Given the description of an element on the screen output the (x, y) to click on. 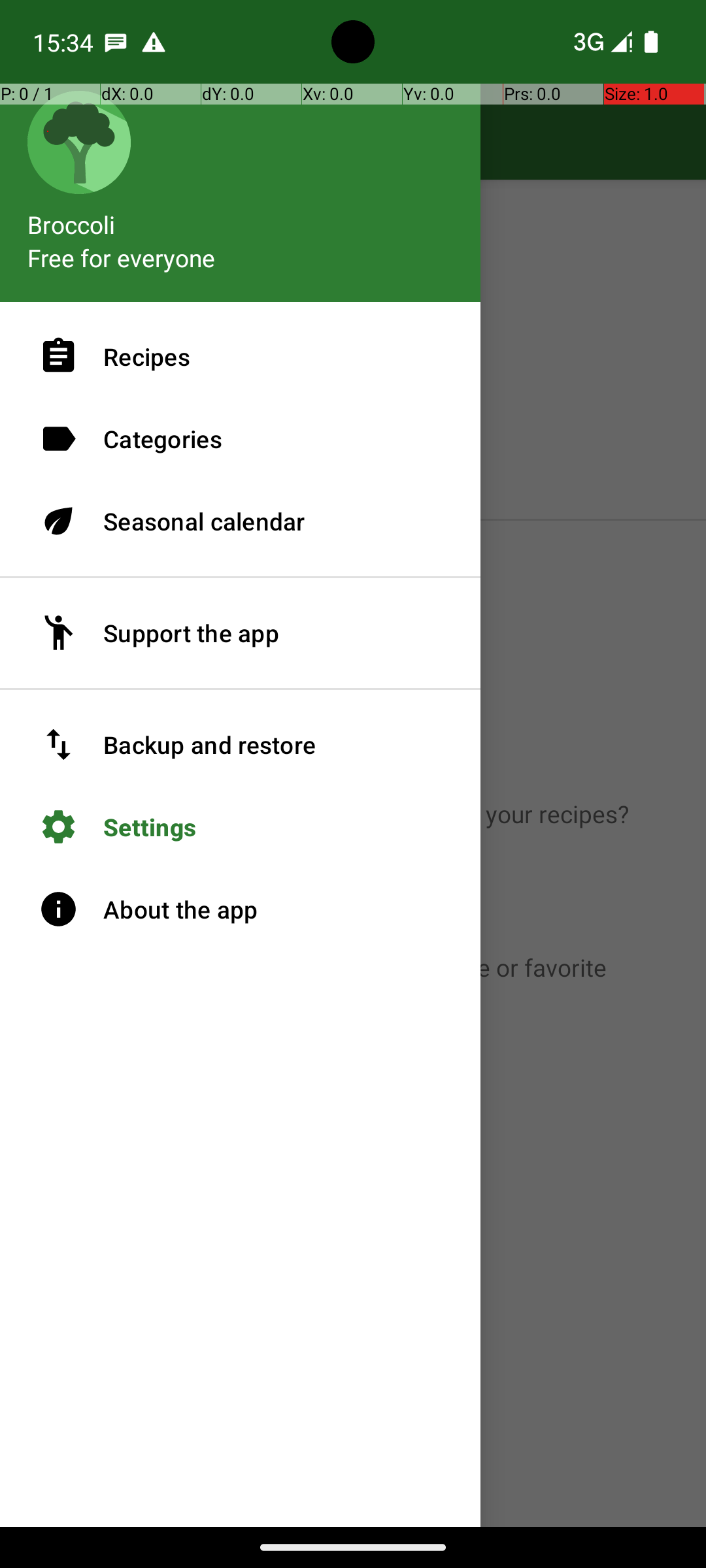
Free for everyone Element type: android.widget.TextView (121, 257)
Seasonal calendar Element type: android.widget.CheckedTextView (239, 521)
Support the app Element type: android.widget.CheckedTextView (239, 632)
Backup and restore Element type: android.widget.CheckedTextView (239, 744)
About the app Element type: android.widget.CheckedTextView (239, 909)
